Given the description of an element on the screen output the (x, y) to click on. 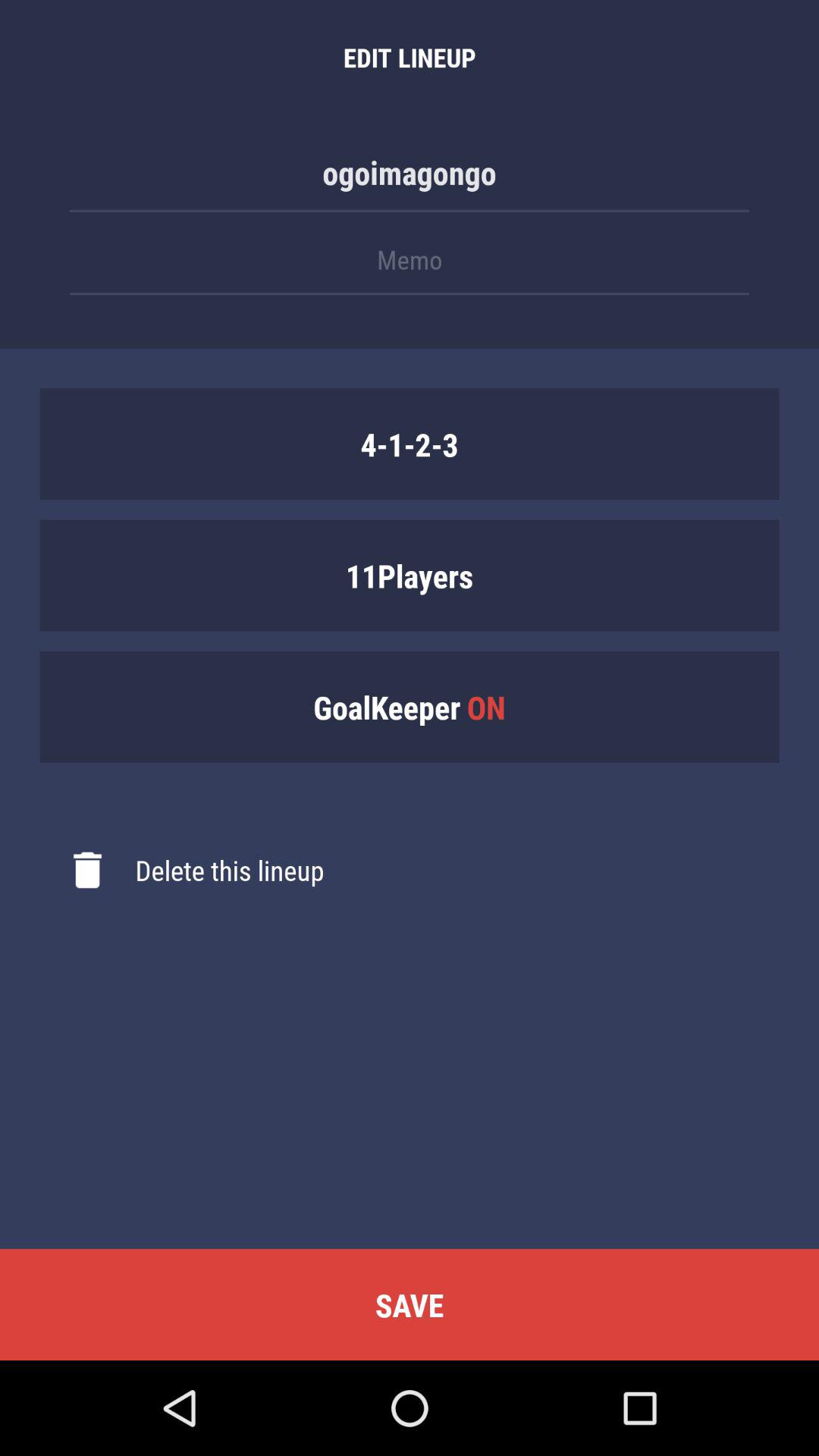
press the item below 4 1 2 (409, 575)
